Given the description of an element on the screen output the (x, y) to click on. 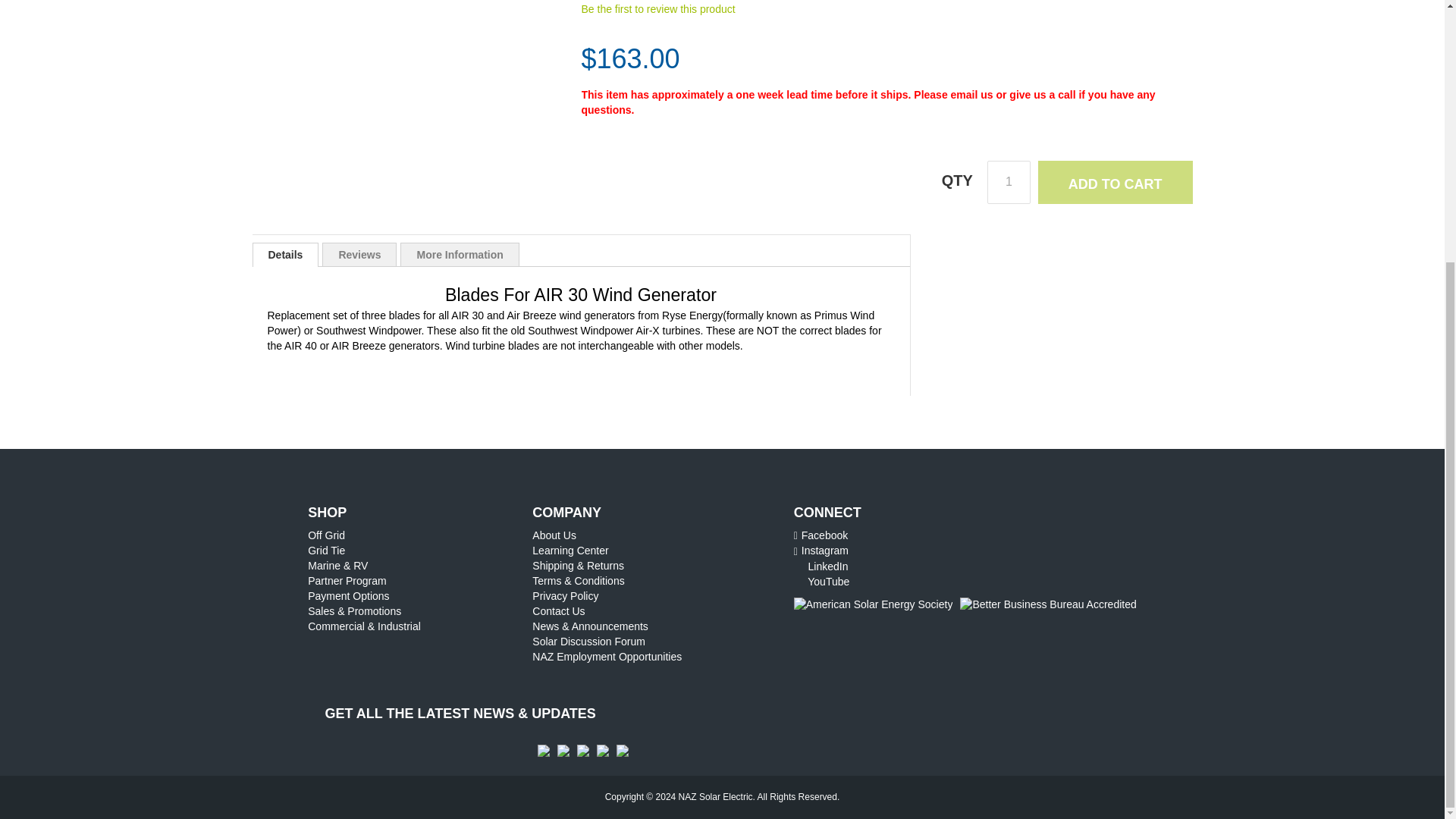
Qty (1008, 181)
Add to Cart (1115, 181)
1 (1008, 181)
